Given the description of an element on the screen output the (x, y) to click on. 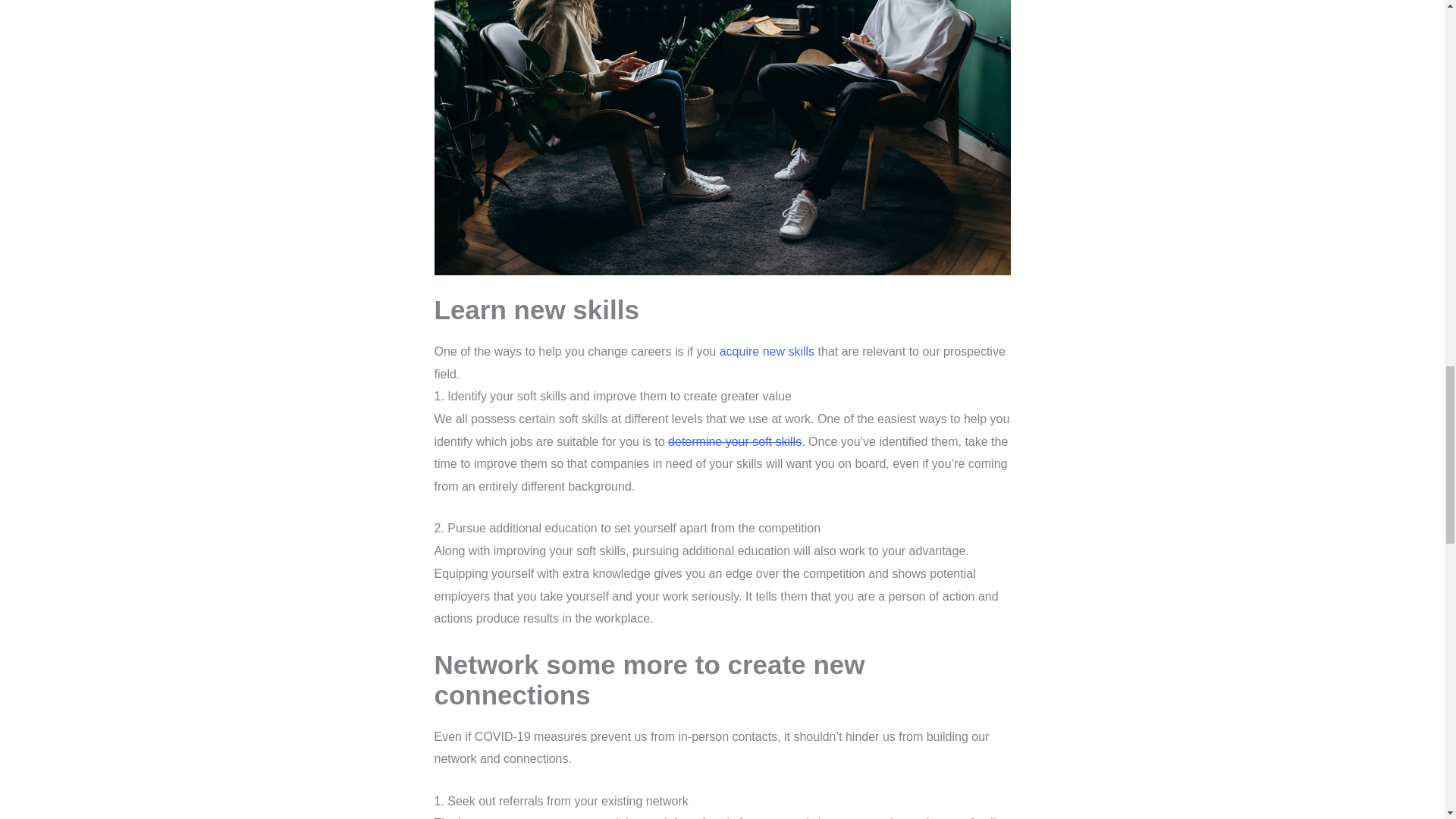
determine your soft skills (735, 440)
acquire new skills (766, 350)
